Given the description of an element on the screen output the (x, y) to click on. 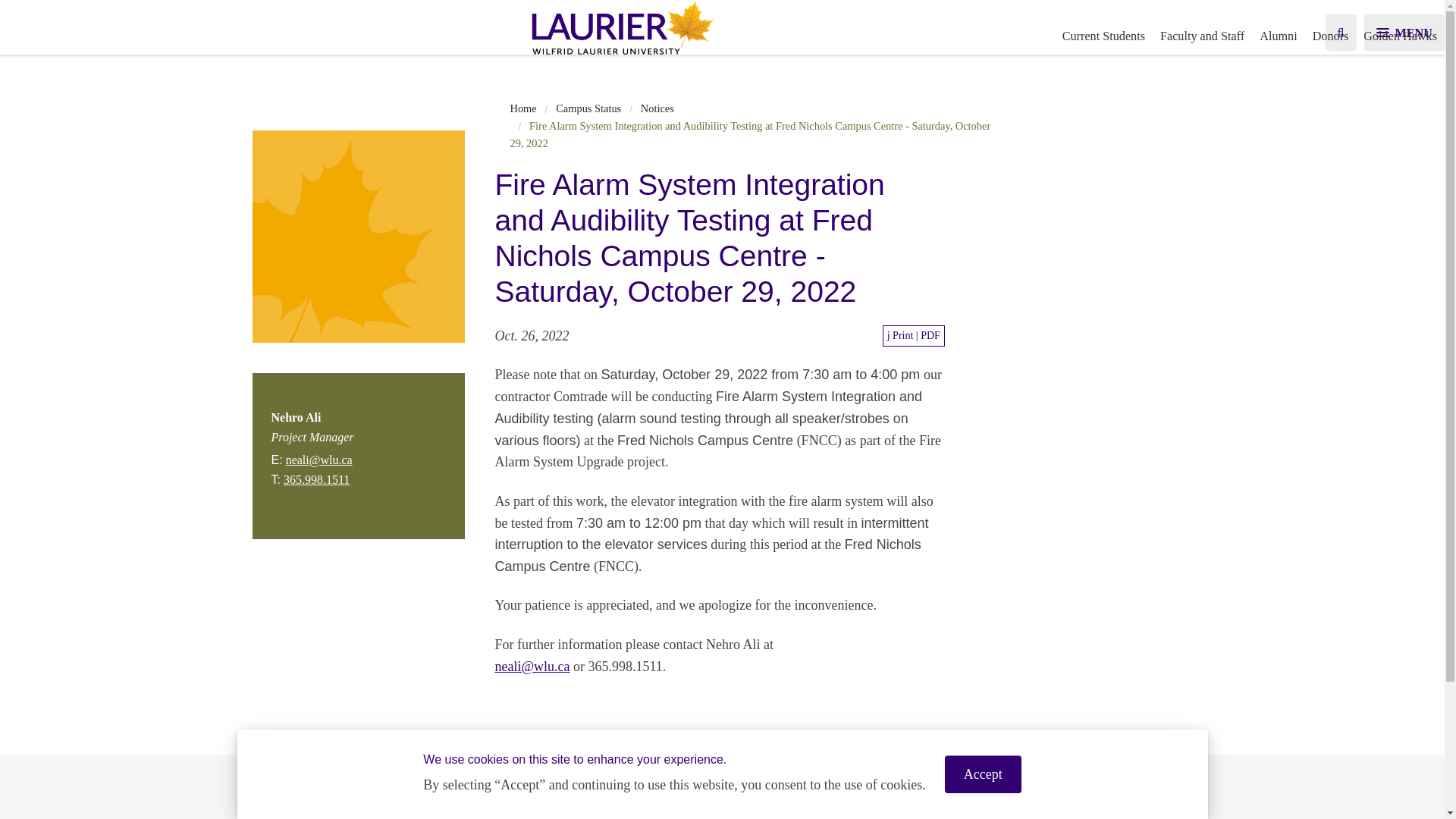
Alumni (1278, 36)
Current Students (1103, 36)
Faculty and Staff (1202, 36)
Printer Friendly and PDF (913, 335)
Donors (1330, 36)
